Given the description of an element on the screen output the (x, y) to click on. 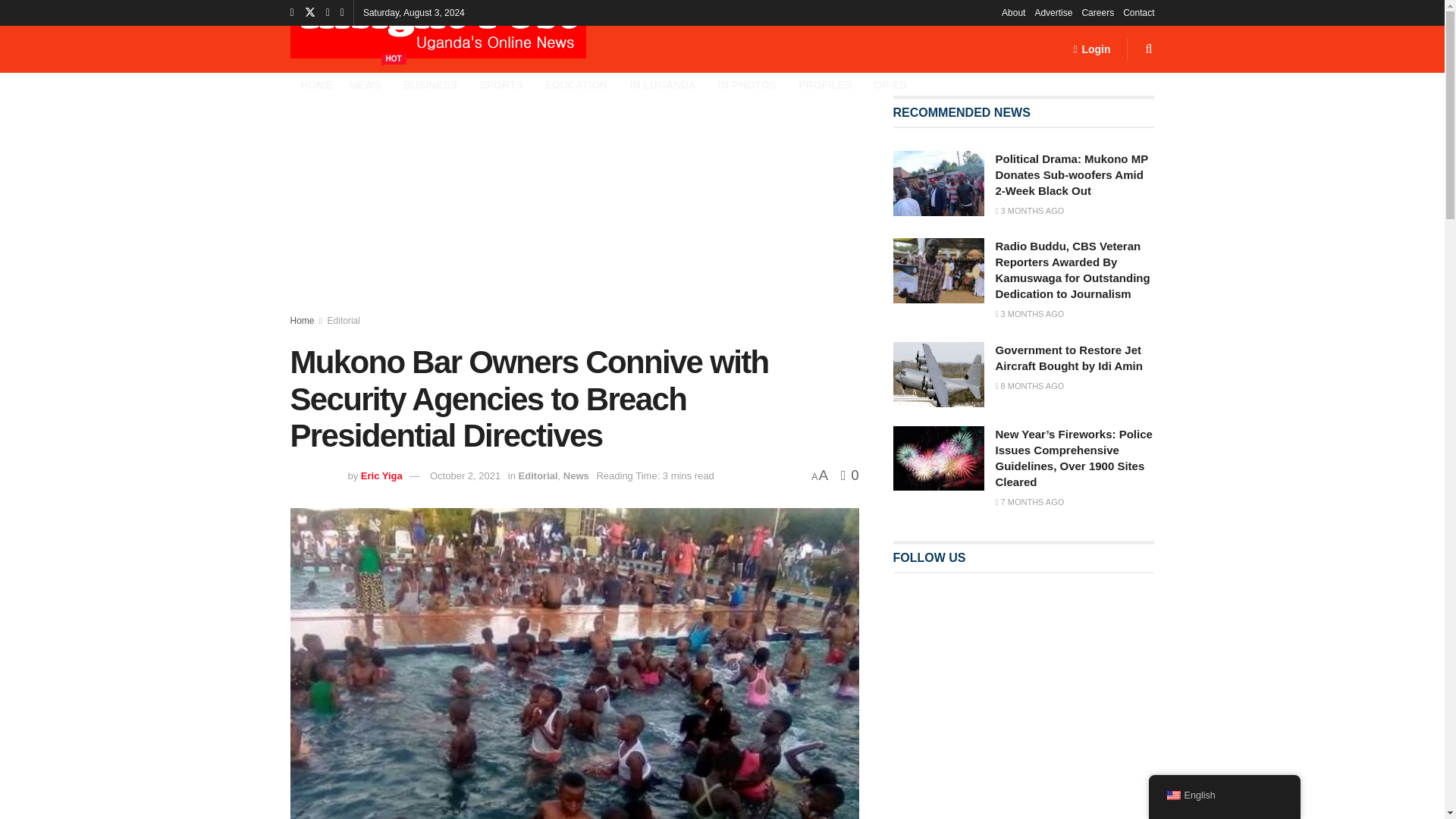
SPORTS (503, 84)
BUSINESS (433, 84)
Contact (1138, 12)
Advertise (1052, 12)
EDUCATION (578, 84)
IN LUGANDA (664, 84)
Careers (1097, 12)
About (1013, 12)
English (1172, 795)
